Given the description of an element on the screen output the (x, y) to click on. 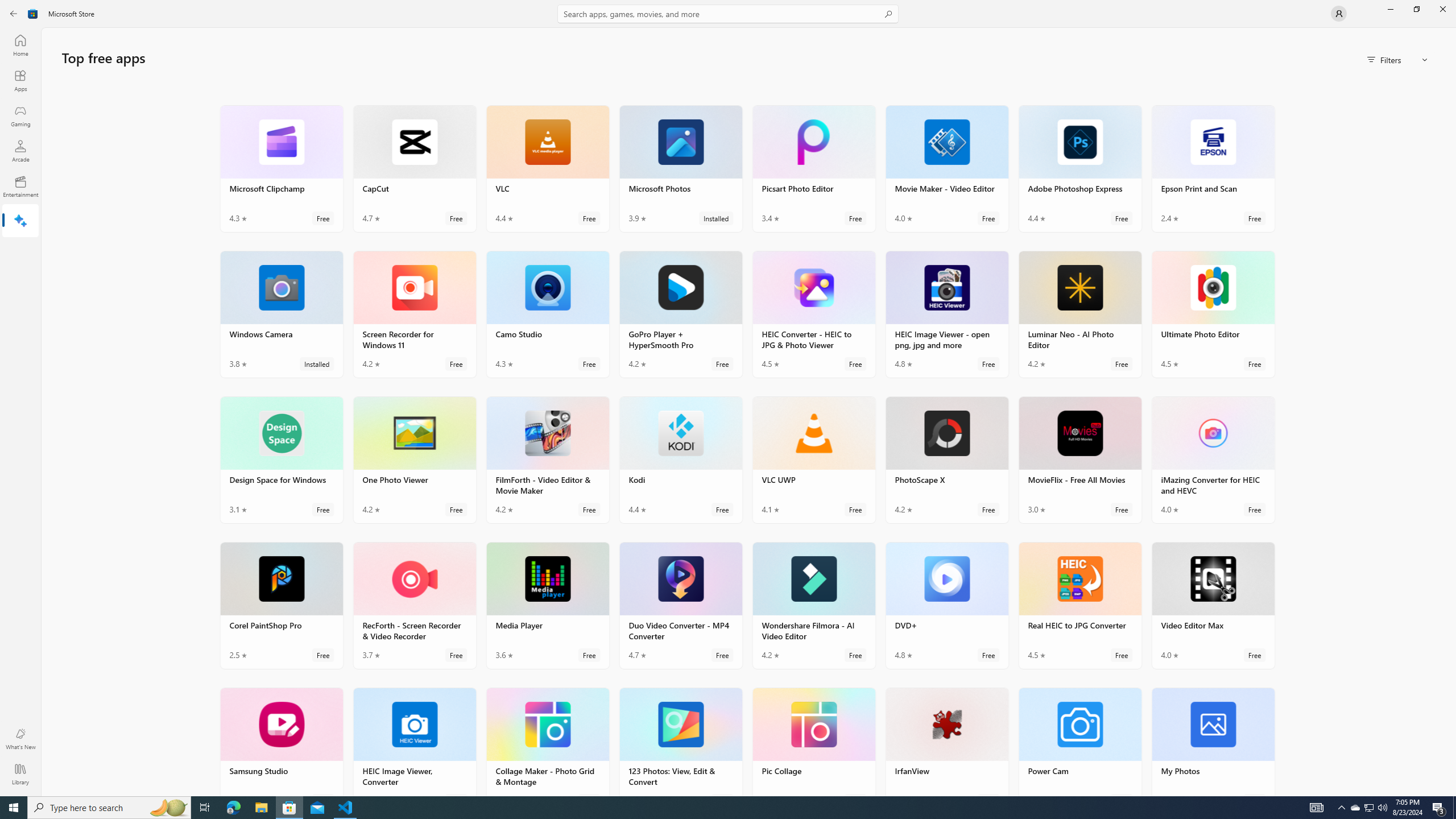
Filters (1397, 59)
VLC. Average rating of 4.4 out of five stars. Free   (548, 167)
VLC UWP. Average rating of 4.1 out of five stars. Free   (813, 459)
